Given the description of an element on the screen output the (x, y) to click on. 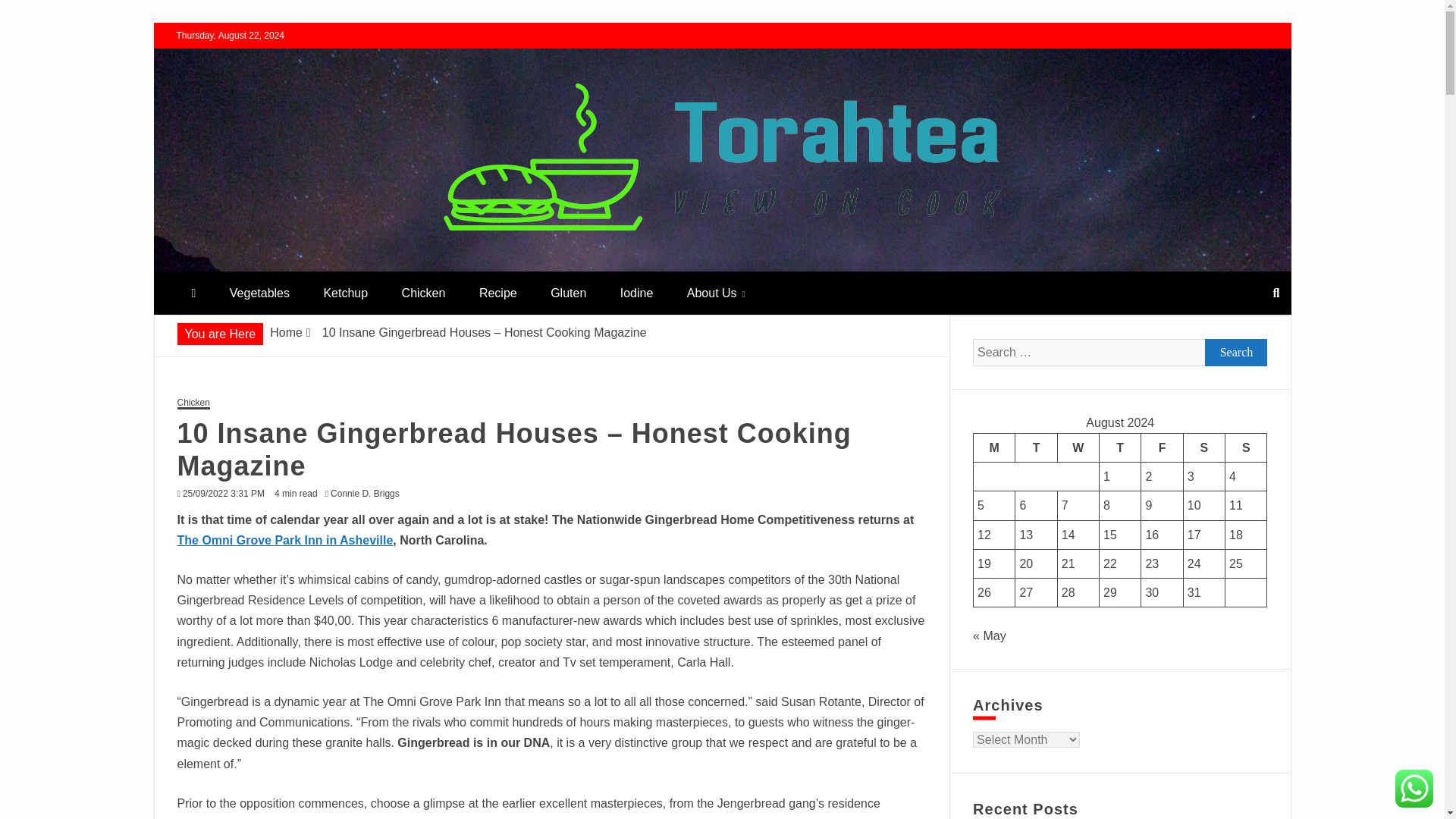
Gluten (568, 292)
Ketchup (344, 292)
Chicken (424, 292)
Tuesday (1035, 447)
Home (285, 332)
About Us (715, 292)
Iodine (636, 292)
Recipe (498, 292)
Search (31, 13)
